Given the description of an element on the screen output the (x, y) to click on. 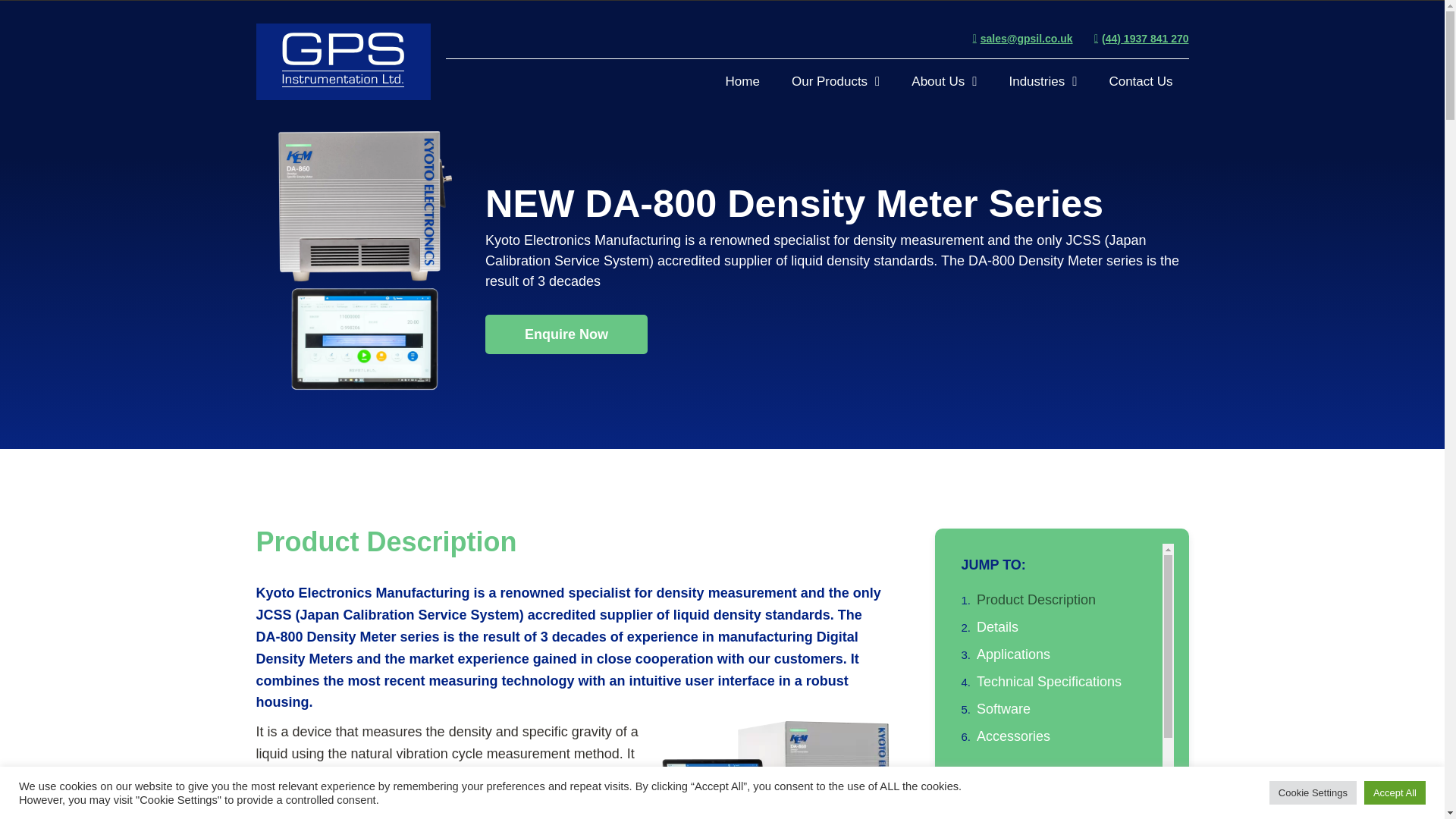
Home (743, 81)
Our Products (835, 81)
Contact Us (1140, 81)
About Us (943, 81)
Industries (1042, 81)
